Given the description of an element on the screen output the (x, y) to click on. 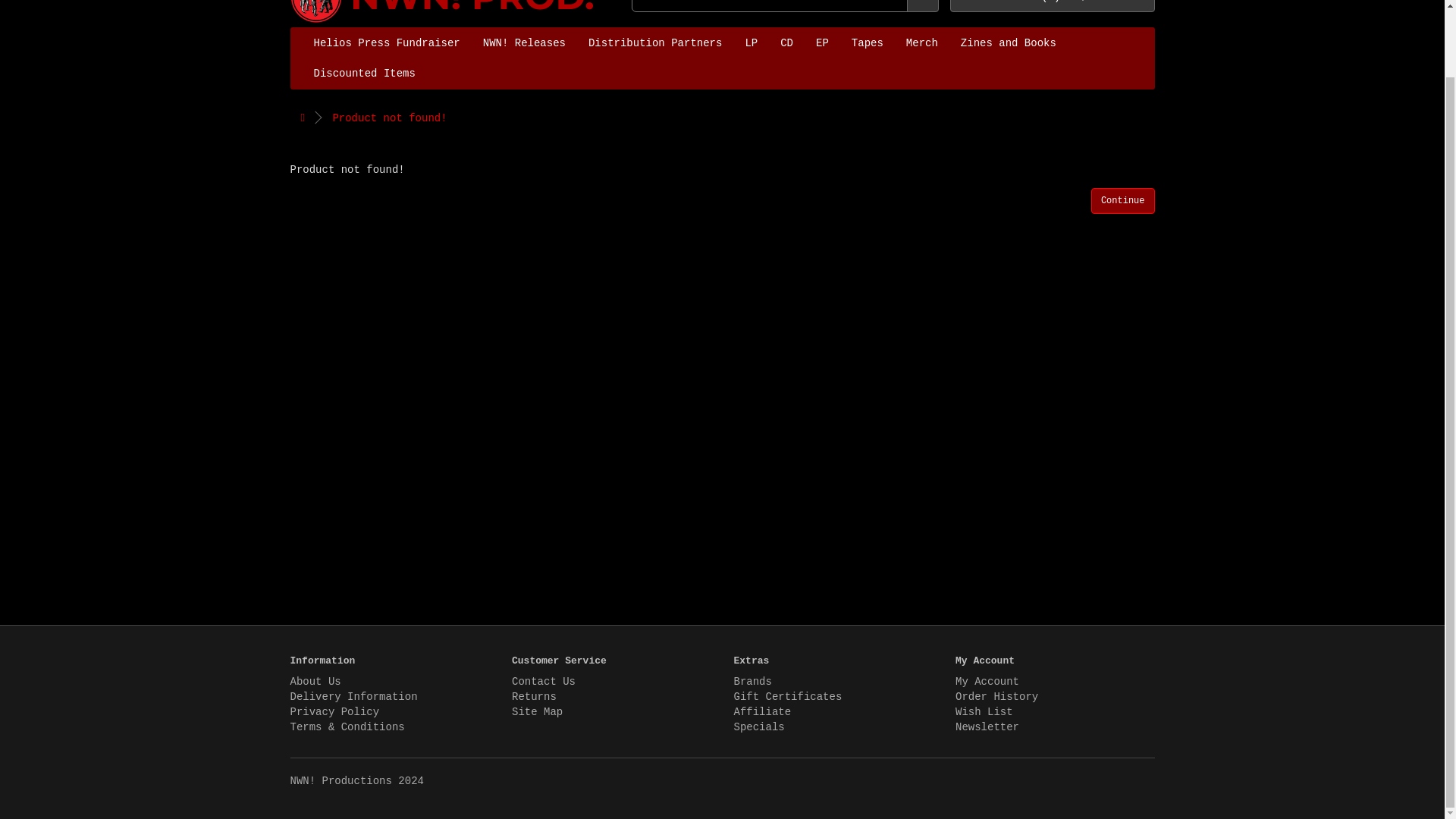
Zines and Books (1008, 42)
Distribution Partners (654, 42)
EP (822, 42)
Tapes (867, 42)
Discounted Items (363, 73)
Merch (922, 42)
NWN! Productions (442, 14)
NWN! Releases (523, 42)
LP (750, 42)
CD (786, 42)
Helios Press Fundraiser (385, 42)
